Given the description of an element on the screen output the (x, y) to click on. 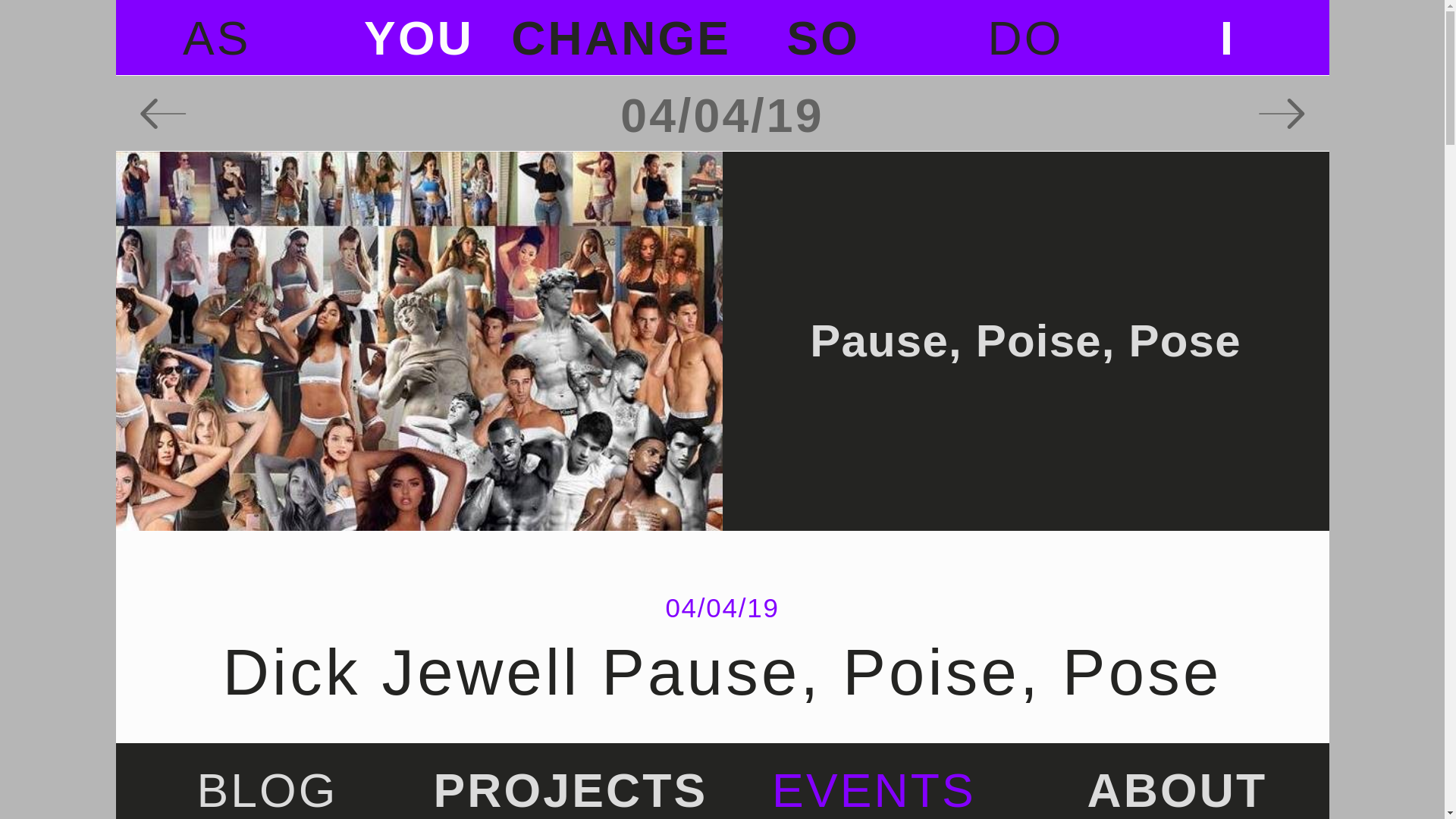
BLOG (266, 790)
PROJECTS (721, 37)
ABOUT (570, 790)
EVENTS (1177, 790)
